Given the description of an element on the screen output the (x, y) to click on. 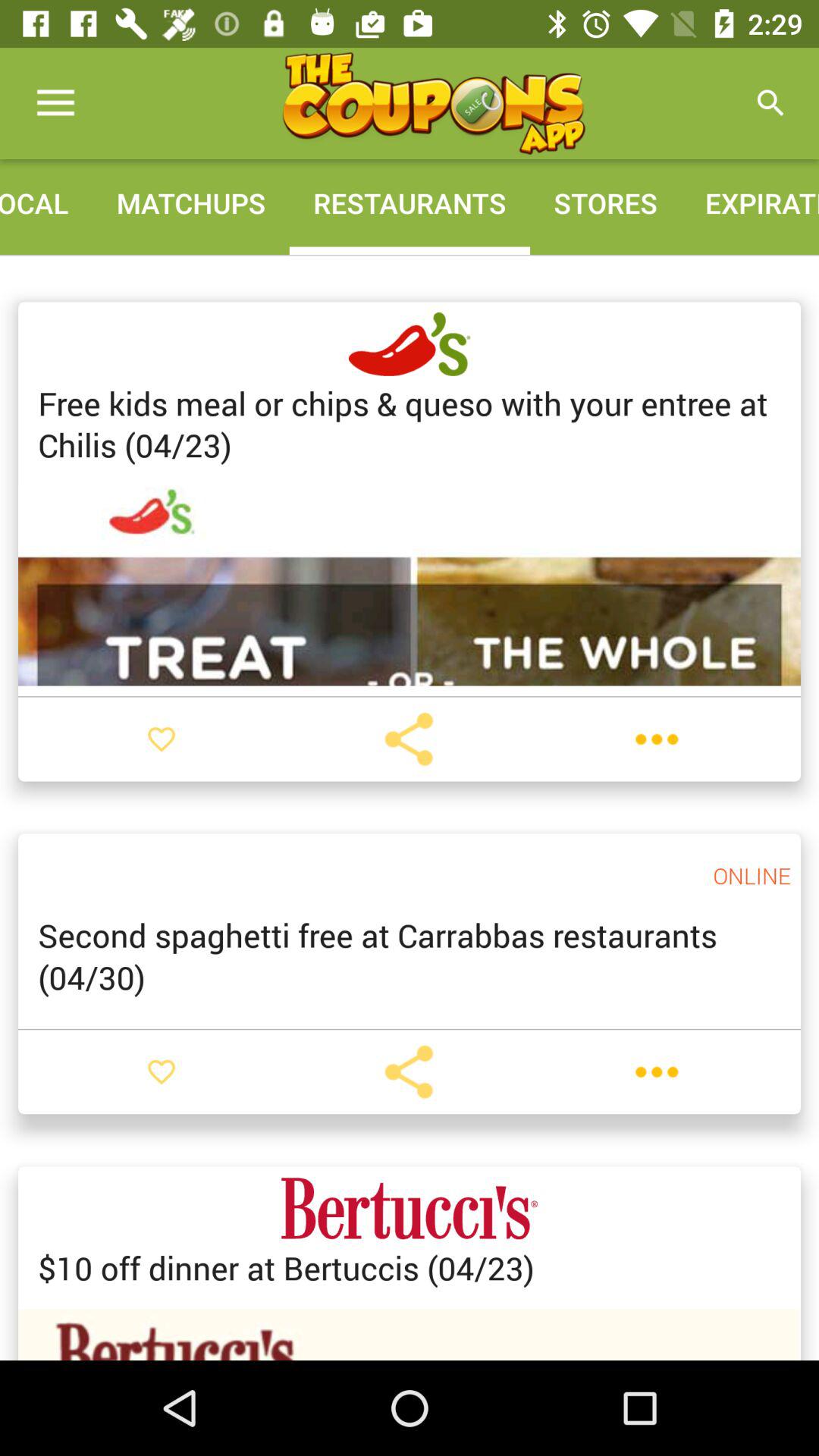
add to favorites (161, 739)
